Given the description of an element on the screen output the (x, y) to click on. 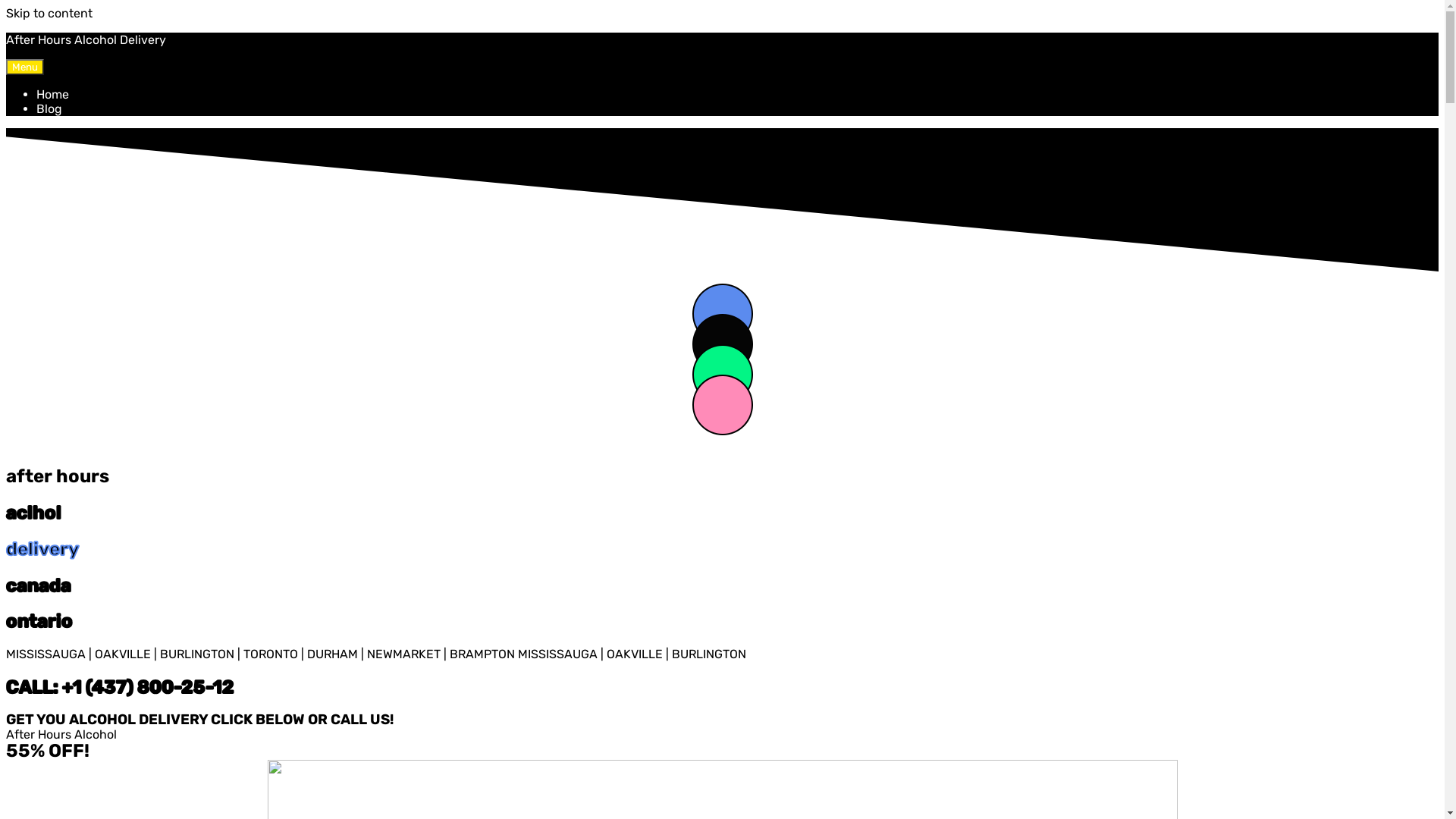
Home Element type: text (52, 94)
CALL: +1 (437) 800-25-12 Element type: text (722, 686)
After Hours Alcohol Element type: text (61, 734)
After Hours Alcohol Delivery Element type: text (86, 39)
Menu Element type: text (24, 67)
Skip to content Element type: text (49, 13)
Blog Element type: text (49, 108)
